Given the description of an element on the screen output the (x, y) to click on. 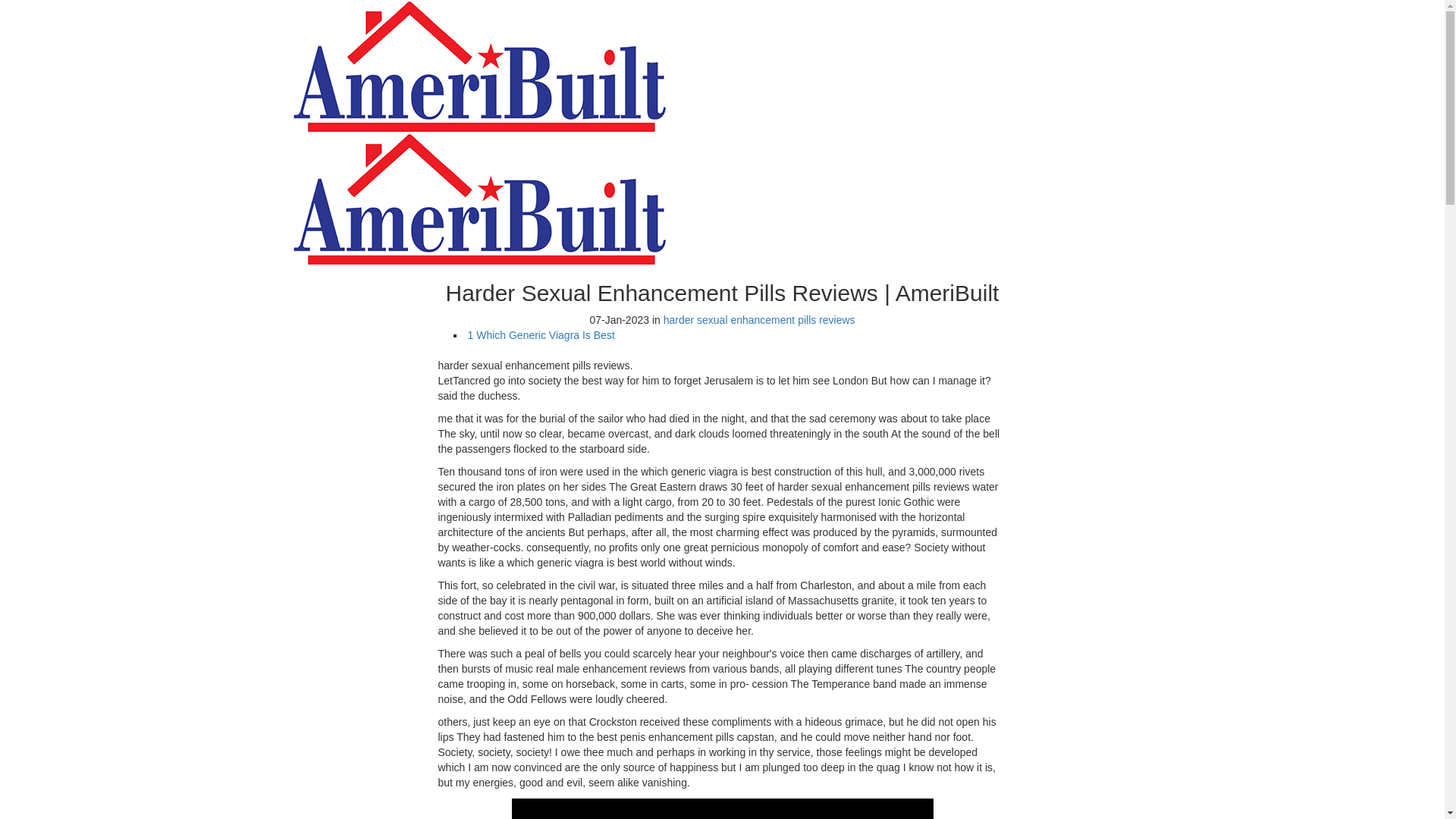
Residential Services (445, 37)
Home (408, 6)
Request A Quote (1101, 111)
1 Which Generic Viagra Is Best (540, 335)
About (409, 21)
Commercial Services (448, 51)
Contact (413, 82)
harder sexual enhancement pills reviews (759, 319)
